Given the description of an element on the screen output the (x, y) to click on. 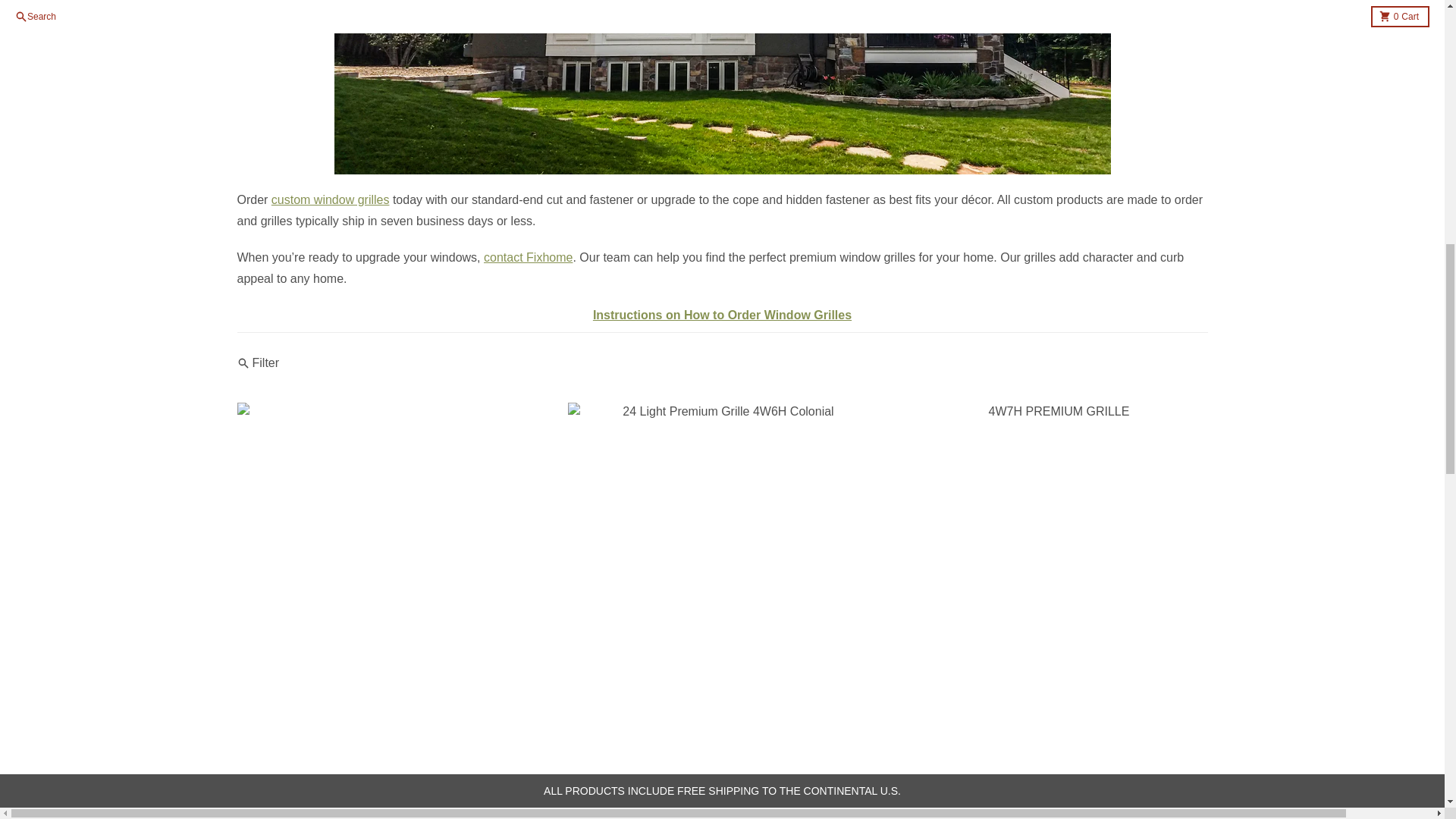
How to order Grilles (721, 314)
